Given the description of an element on the screen output the (x, y) to click on. 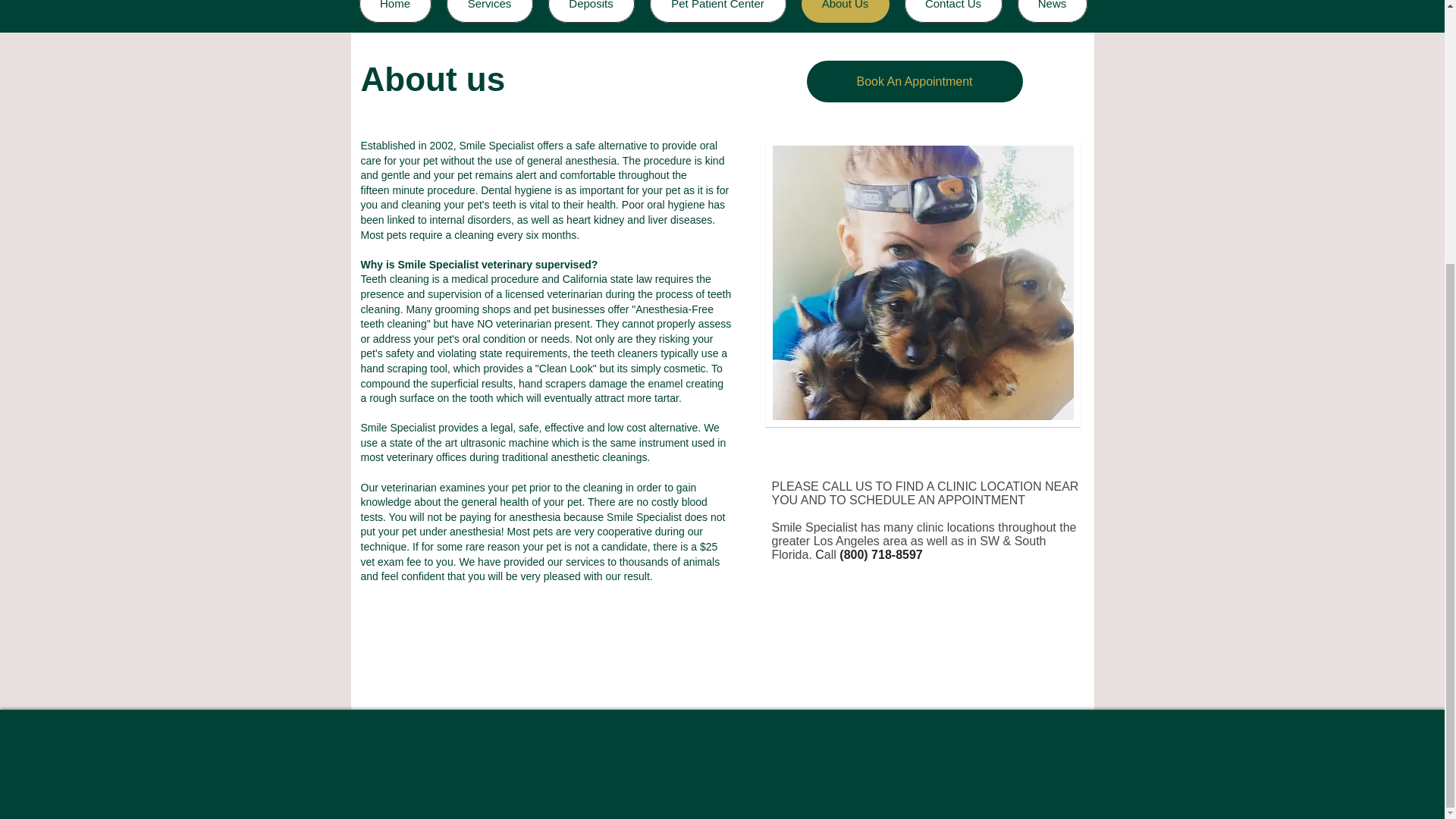
News (1052, 11)
Services (488, 11)
Amanda Doggies.jpg (922, 282)
Deposits (590, 11)
Contact Us (952, 11)
Book An Appointment (914, 81)
Pet Patient Center (717, 11)
About Us (844, 11)
Home (394, 11)
